Given the description of an element on the screen output the (x, y) to click on. 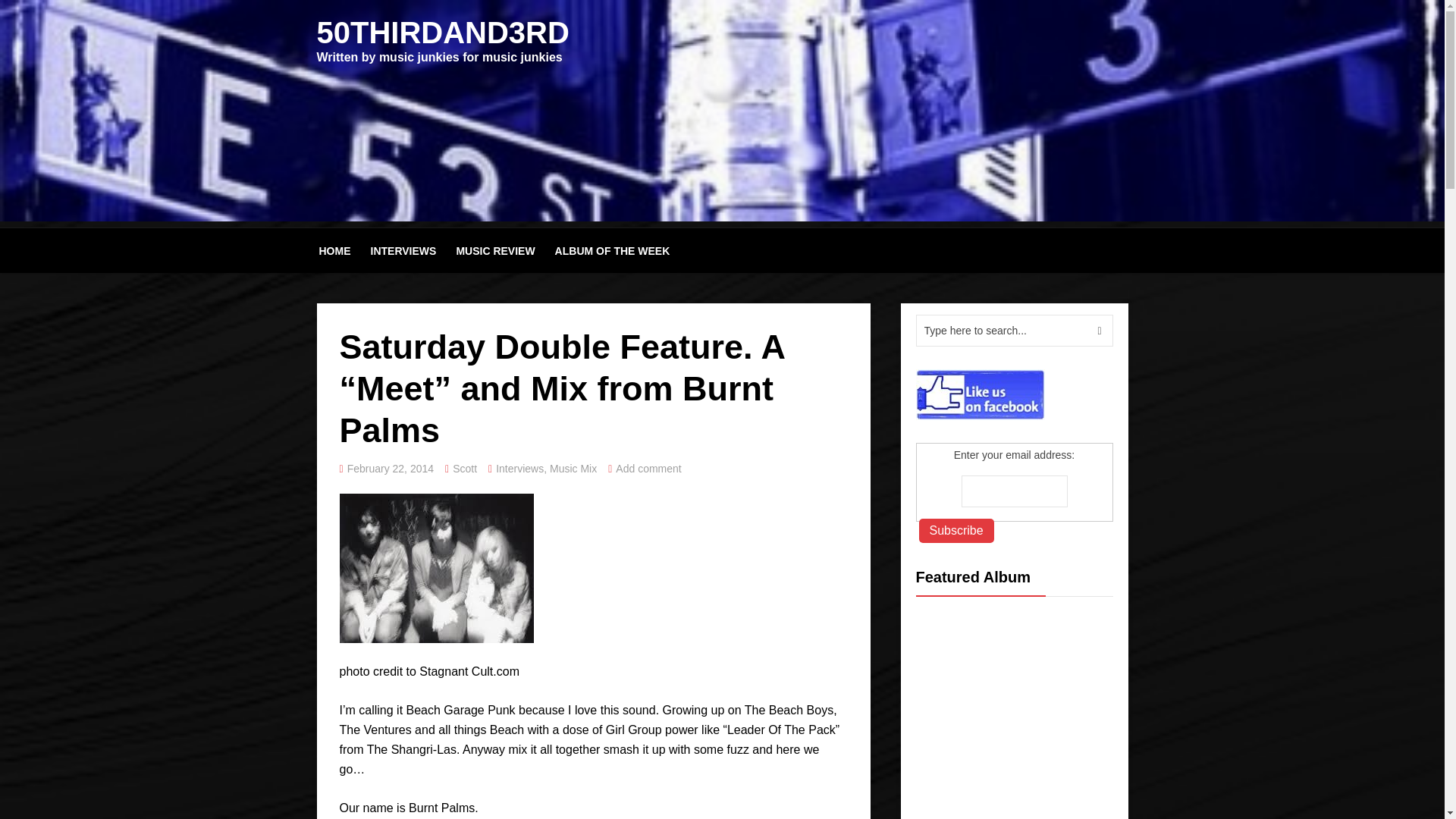
50THIRDAND3RD (443, 32)
Interviews (519, 468)
Type here to search... (1014, 330)
ALBUM OF THE WEEK (612, 250)
MUSIC REVIEW (494, 250)
Scott (464, 468)
Subscribe (956, 530)
INTERVIEWS (403, 250)
Type here to search... (1014, 330)
Stagnant Cult.com (469, 671)
